Given the description of an element on the screen output the (x, y) to click on. 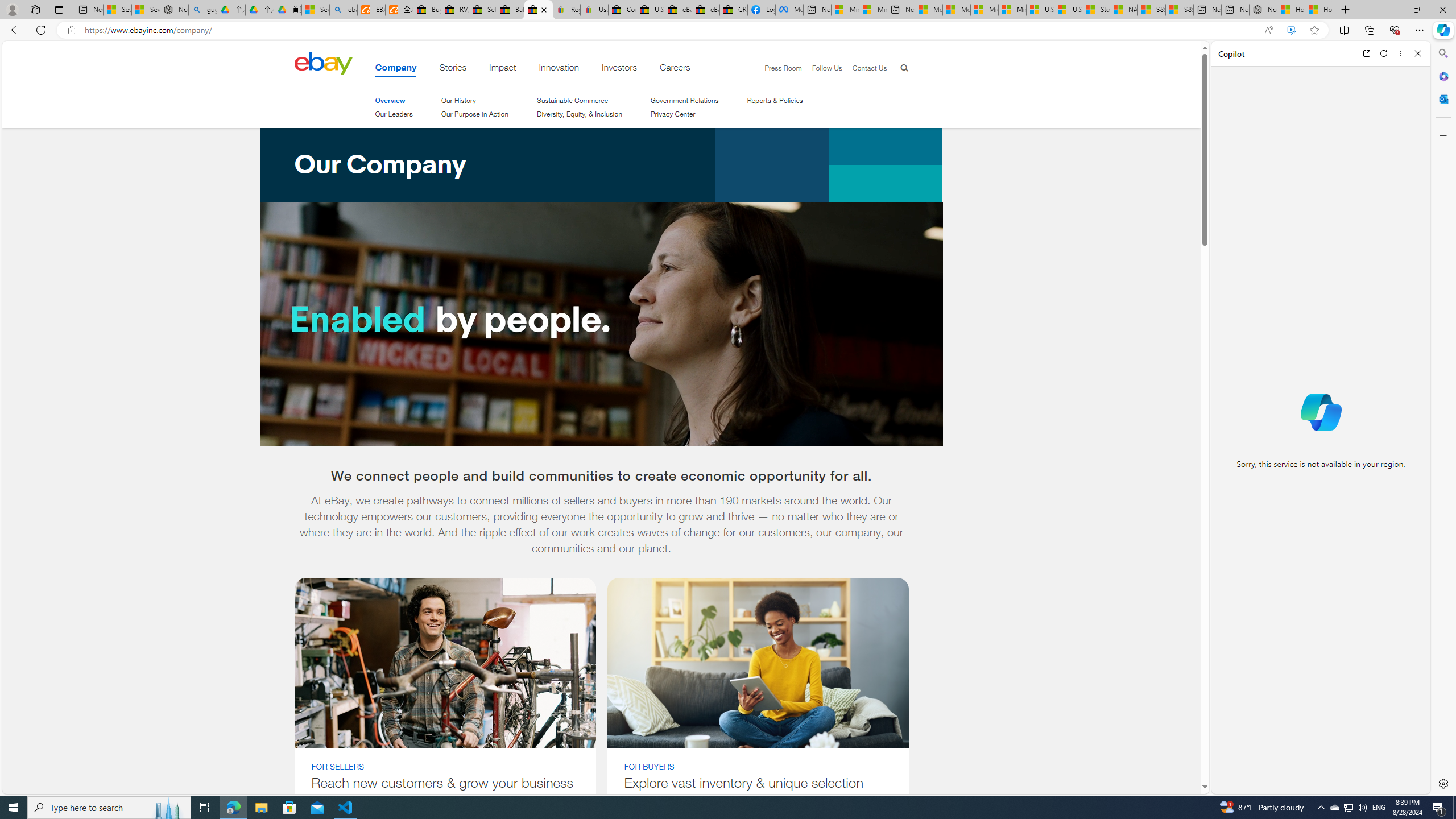
Settings (1442, 783)
Our Leaders (393, 113)
Follow Us (821, 68)
U.S. State Privacy Disclosures - eBay Inc. (649, 9)
Consumer Health Data Privacy Policy - eBay Inc. (621, 9)
Home (323, 63)
Sell worldwide with eBay (483, 9)
Customize (1442, 135)
